Given the description of an element on the screen output the (x, y) to click on. 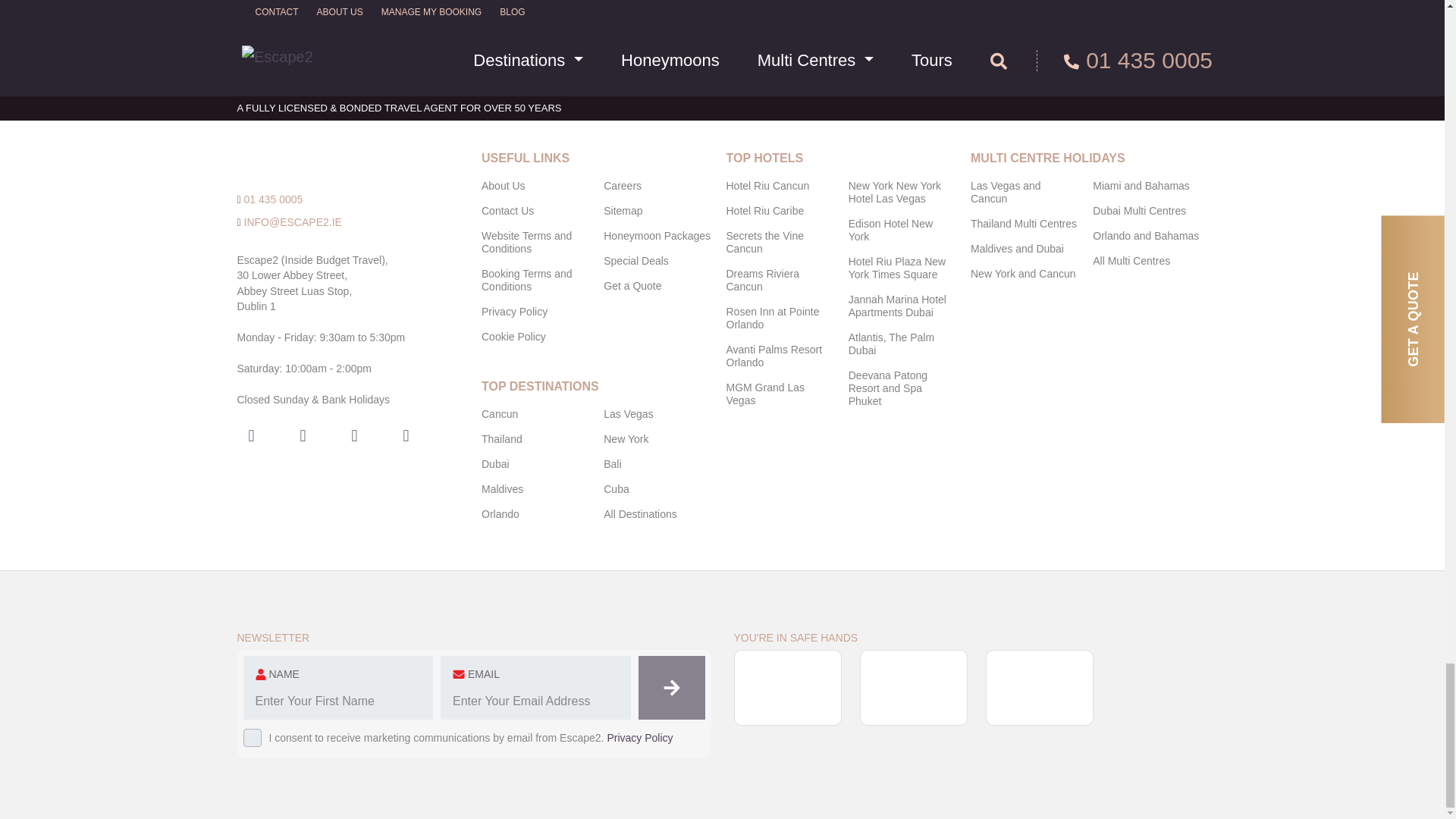
Escape2 on Facebook (249, 435)
Escape2 (320, 158)
Escape2 on Instagram (302, 435)
Send (1096, 38)
Escape2 on Youtube (353, 435)
Escape2 on Twitter (405, 435)
